Given the description of an element on the screen output the (x, y) to click on. 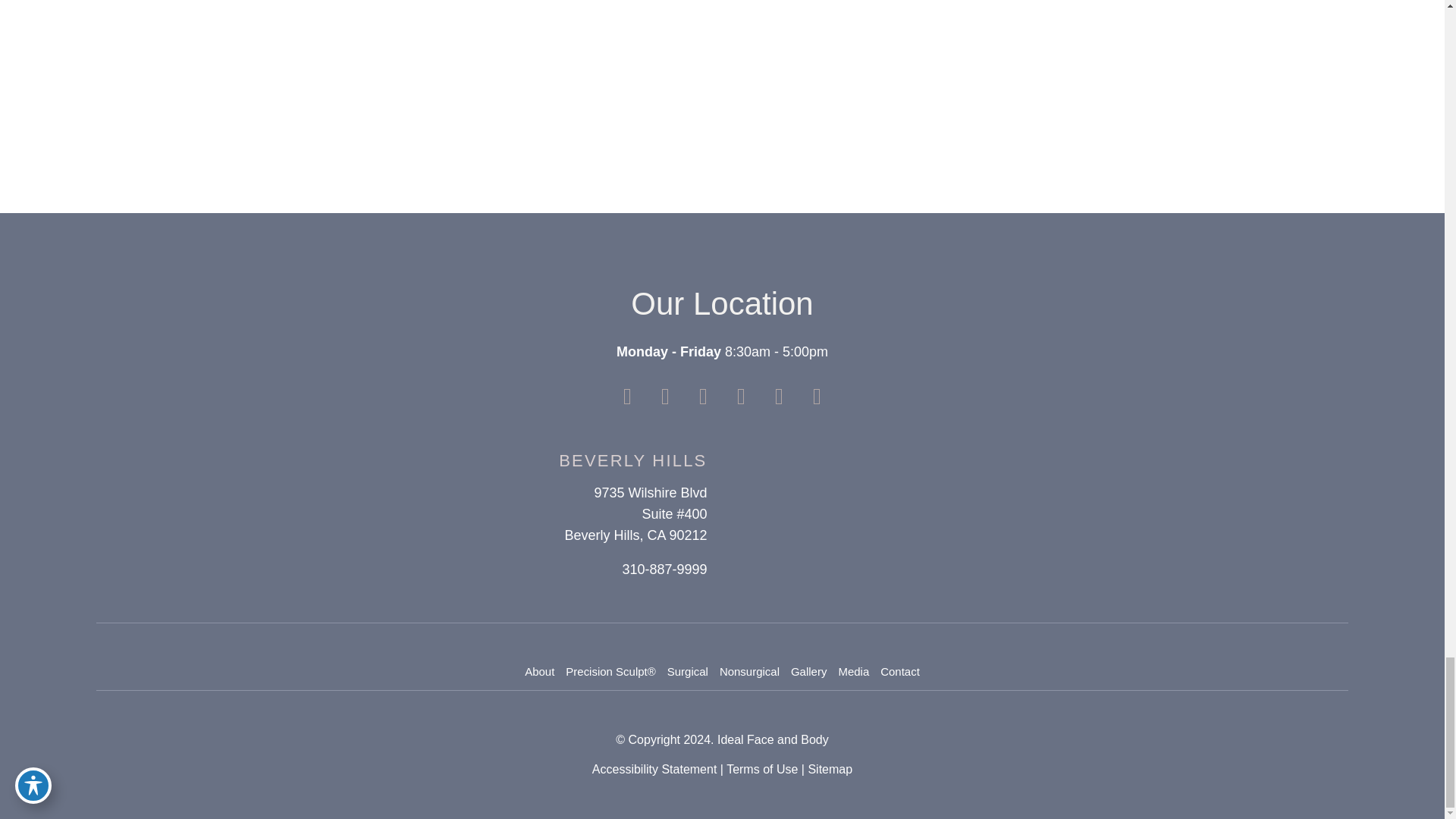
venus viva 1 (383, 11)
precisionsculpt logo (604, 27)
juvederm (833, 19)
office footer (849, 513)
restylane removebg preview (360, 105)
logo dysport (858, 105)
morpheus (1067, 105)
Botox logo (672, 105)
RHa removebg preview 1 (518, 105)
sculptra (1059, 19)
